Given the description of an element on the screen output the (x, y) to click on. 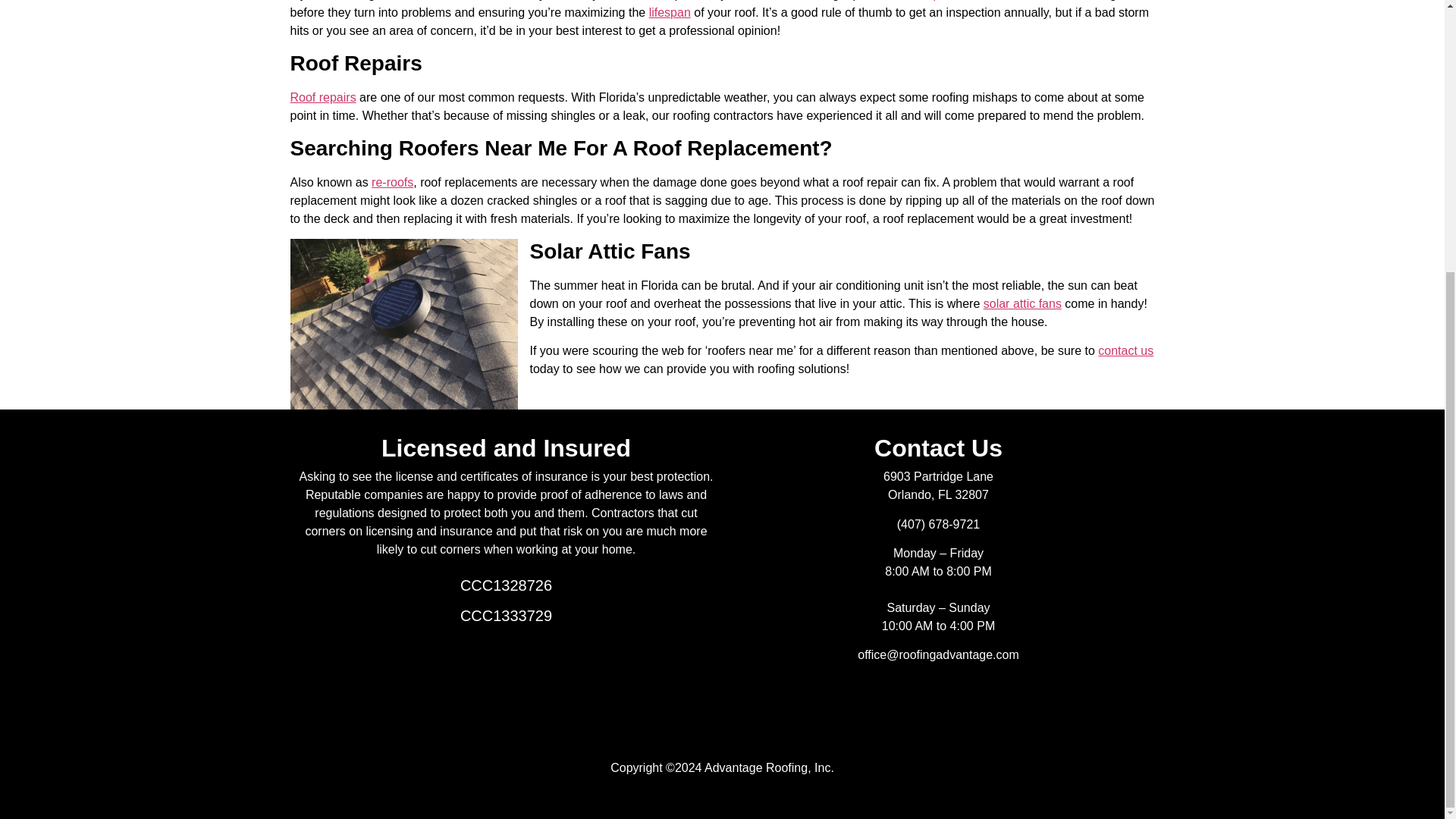
lifespan (669, 11)
re-roofs (392, 182)
Roof repairs (322, 97)
